Given the description of an element on the screen output the (x, y) to click on. 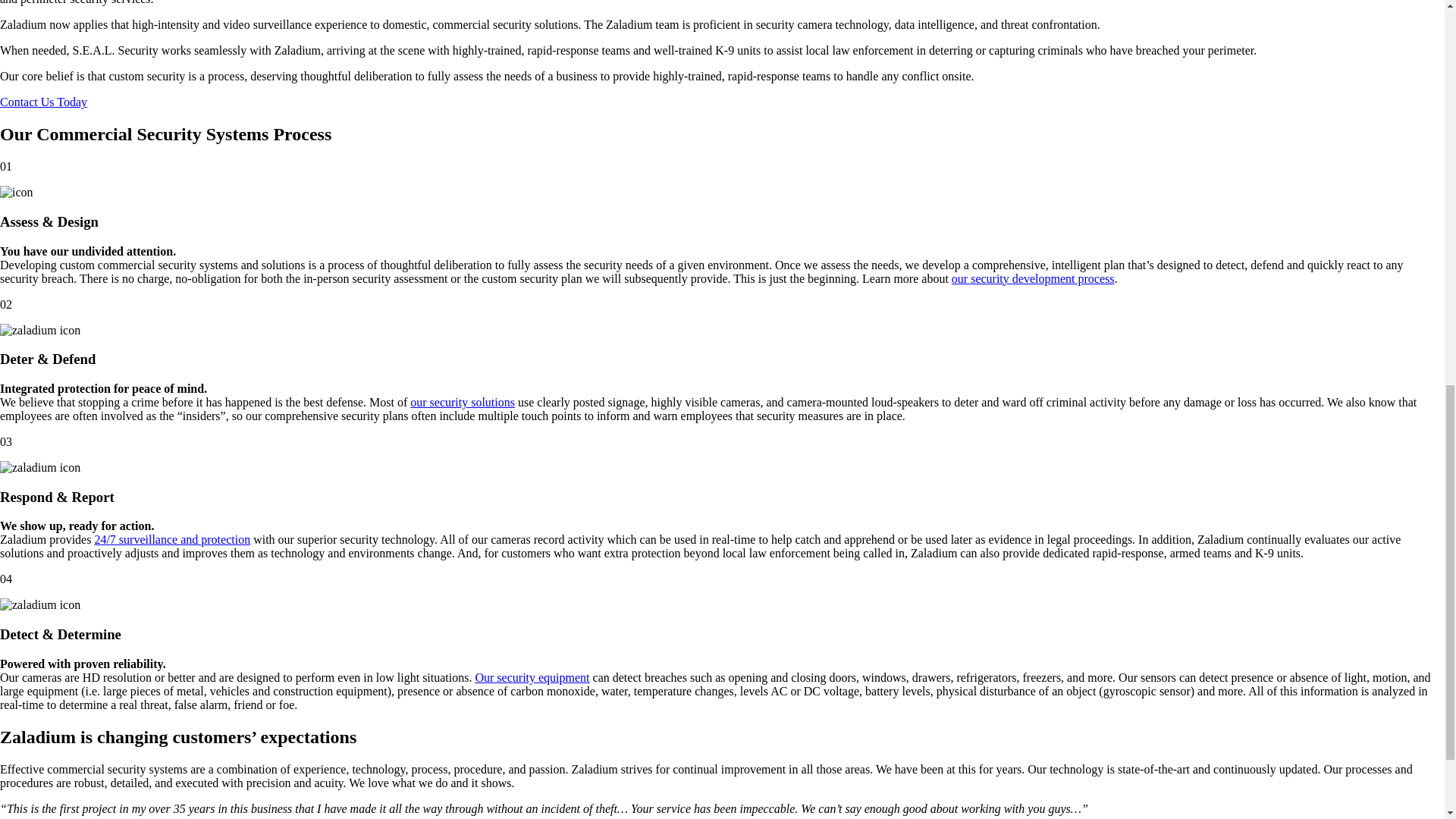
our security development process (1033, 277)
our security solutions (462, 401)
Our security equipment (531, 676)
Contact Us Today (43, 101)
